Given the description of an element on the screen output the (x, y) to click on. 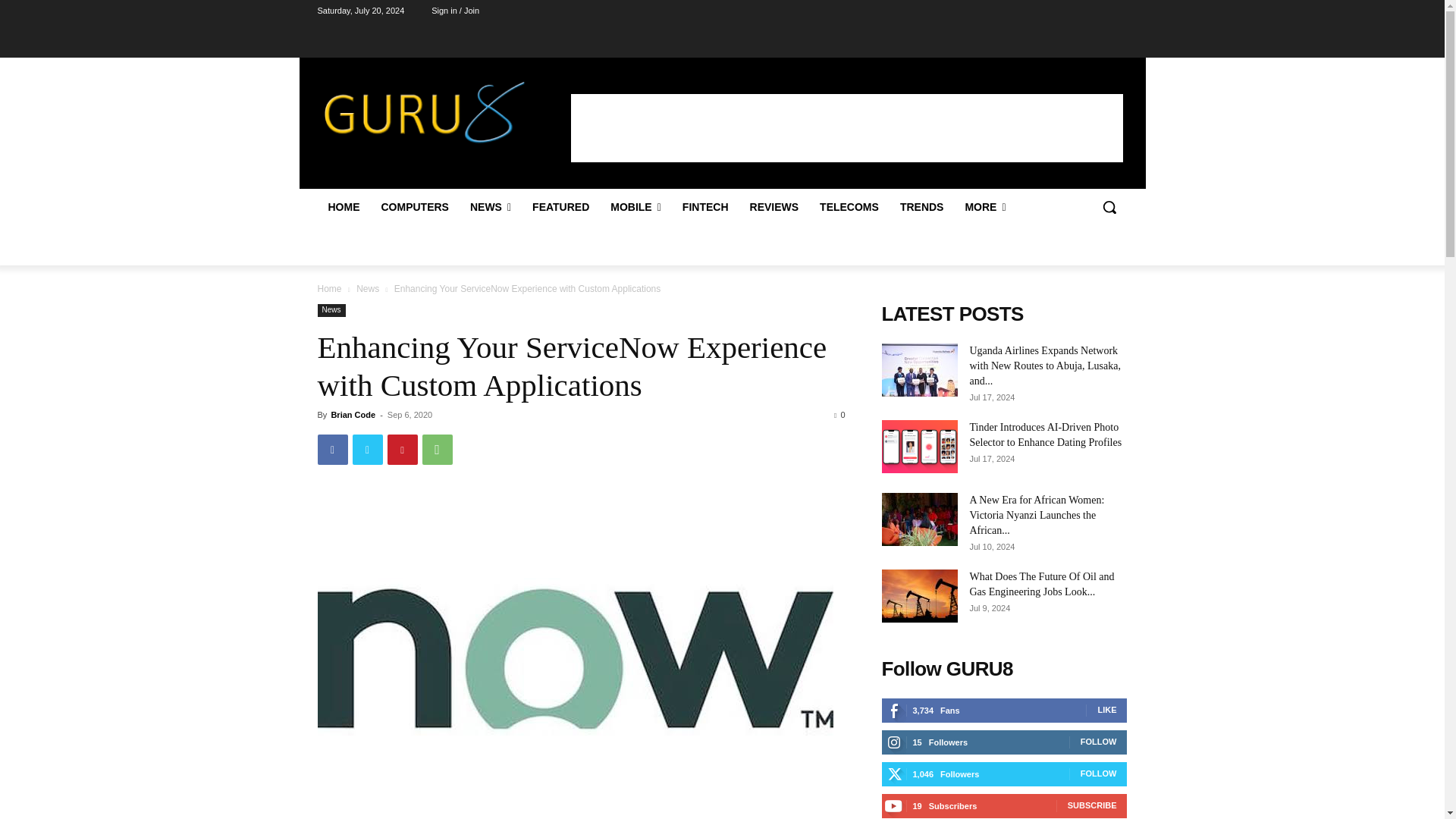
Advertisement (846, 128)
Twitter (366, 449)
FINTECH (705, 207)
COMPUTERS (413, 207)
FEATURED (560, 207)
WhatsApp (436, 449)
Facebook (332, 449)
NEWS (490, 207)
MOBILE (635, 207)
HOME (343, 207)
Pinterest (401, 449)
View all posts in News (367, 288)
